Given the description of an element on the screen output the (x, y) to click on. 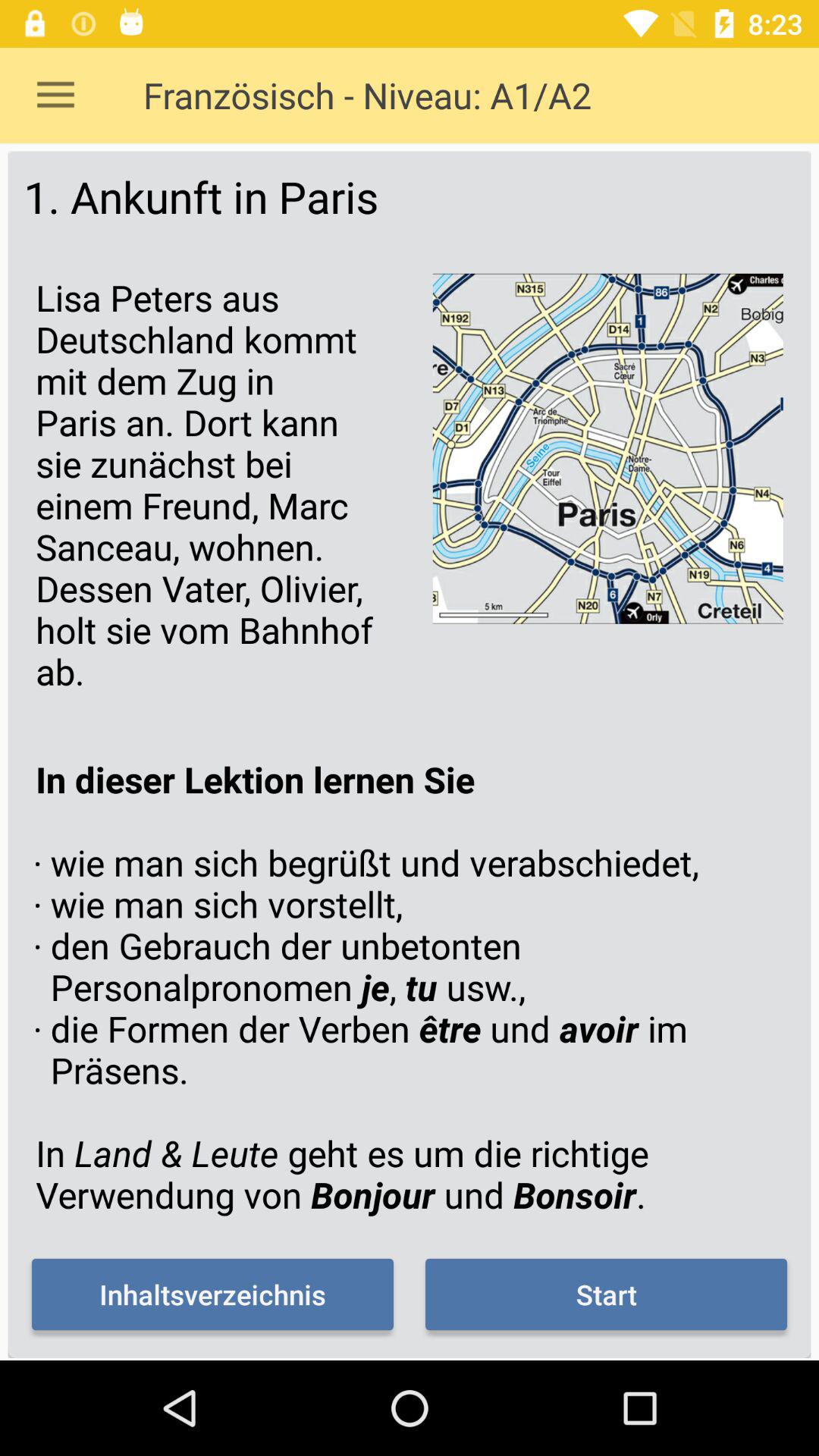
open item above the inhaltsverzeichnis icon (409, 986)
